Given the description of an element on the screen output the (x, y) to click on. 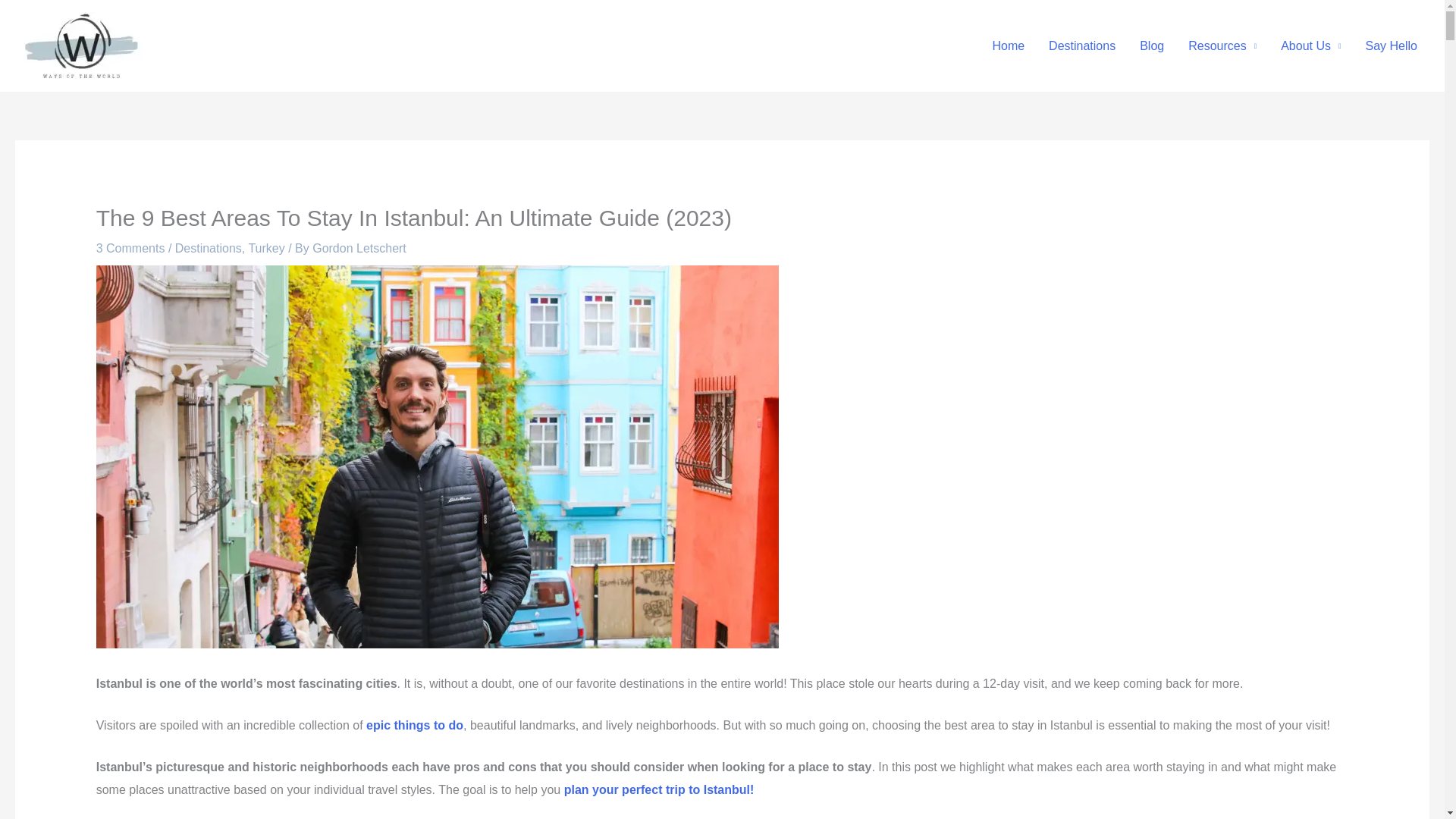
3 Comments (130, 247)
Blog (1151, 45)
View all posts by Gordon Letschert (359, 247)
Resources (1222, 45)
Say Hello (1391, 45)
epic things to do (414, 725)
Gordon Letschert (359, 247)
Home (1007, 45)
About Us (1310, 45)
plan your perfect trip to Istanbul! (659, 789)
